Given the description of an element on the screen output the (x, y) to click on. 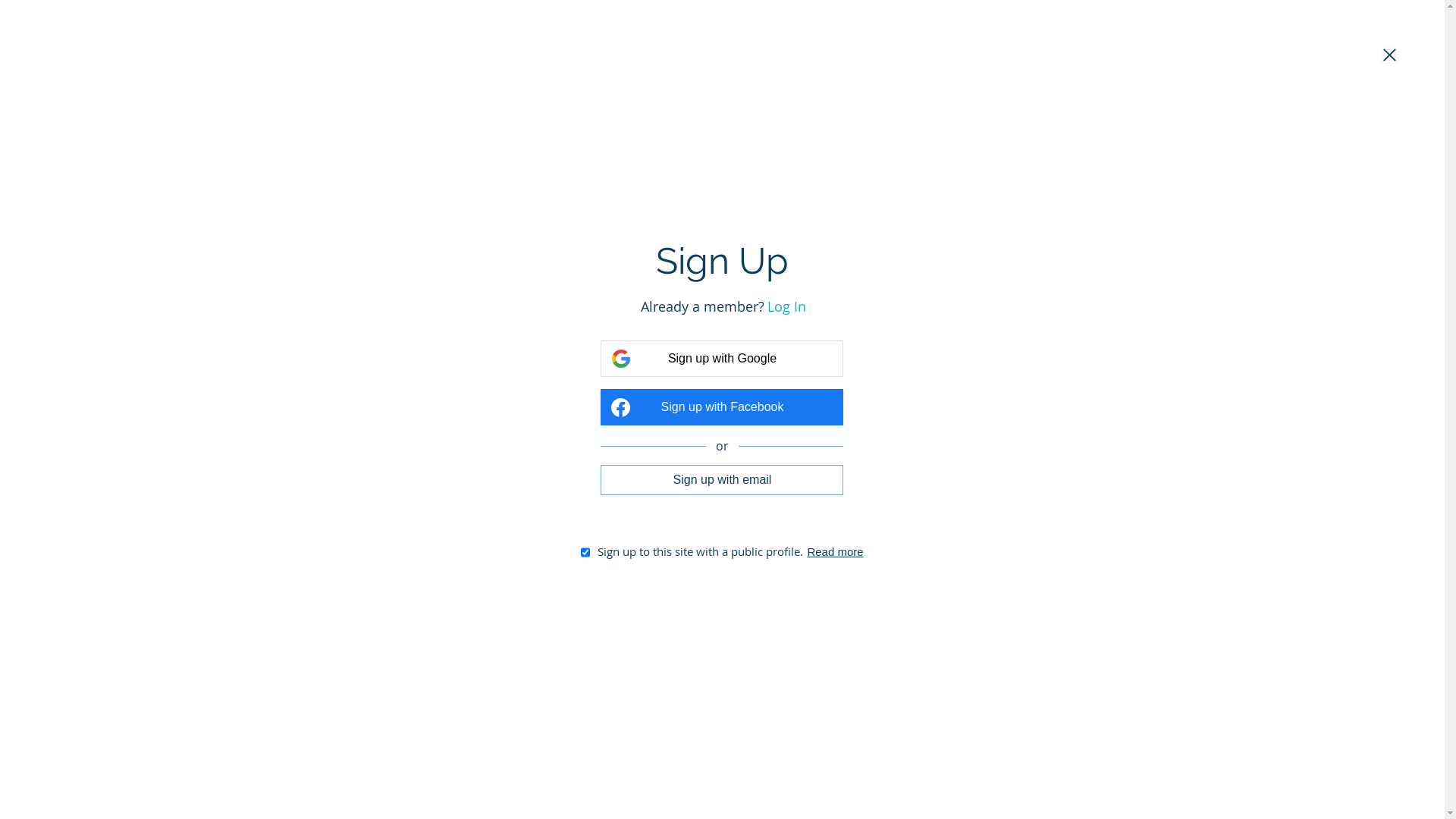
Read more Element type: text (834, 551)
Log In Element type: text (786, 306)
Sign up with email Element type: text (721, 479)
Sign up with Facebook Element type: text (721, 407)
Sign up with Google Element type: text (721, 358)
